Given the description of an element on the screen output the (x, y) to click on. 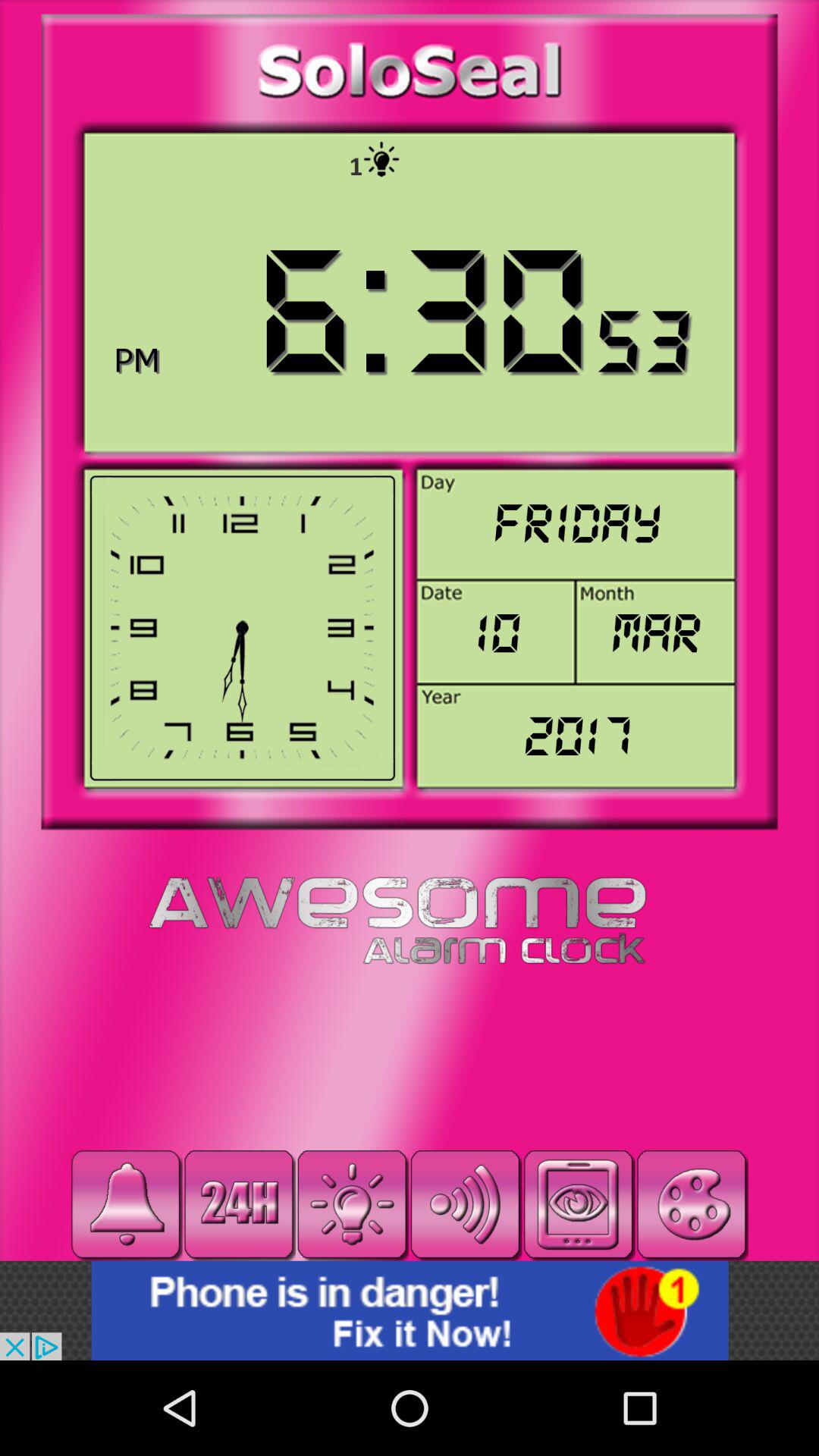
create an alarm (125, 1203)
